Given the description of an element on the screen output the (x, y) to click on. 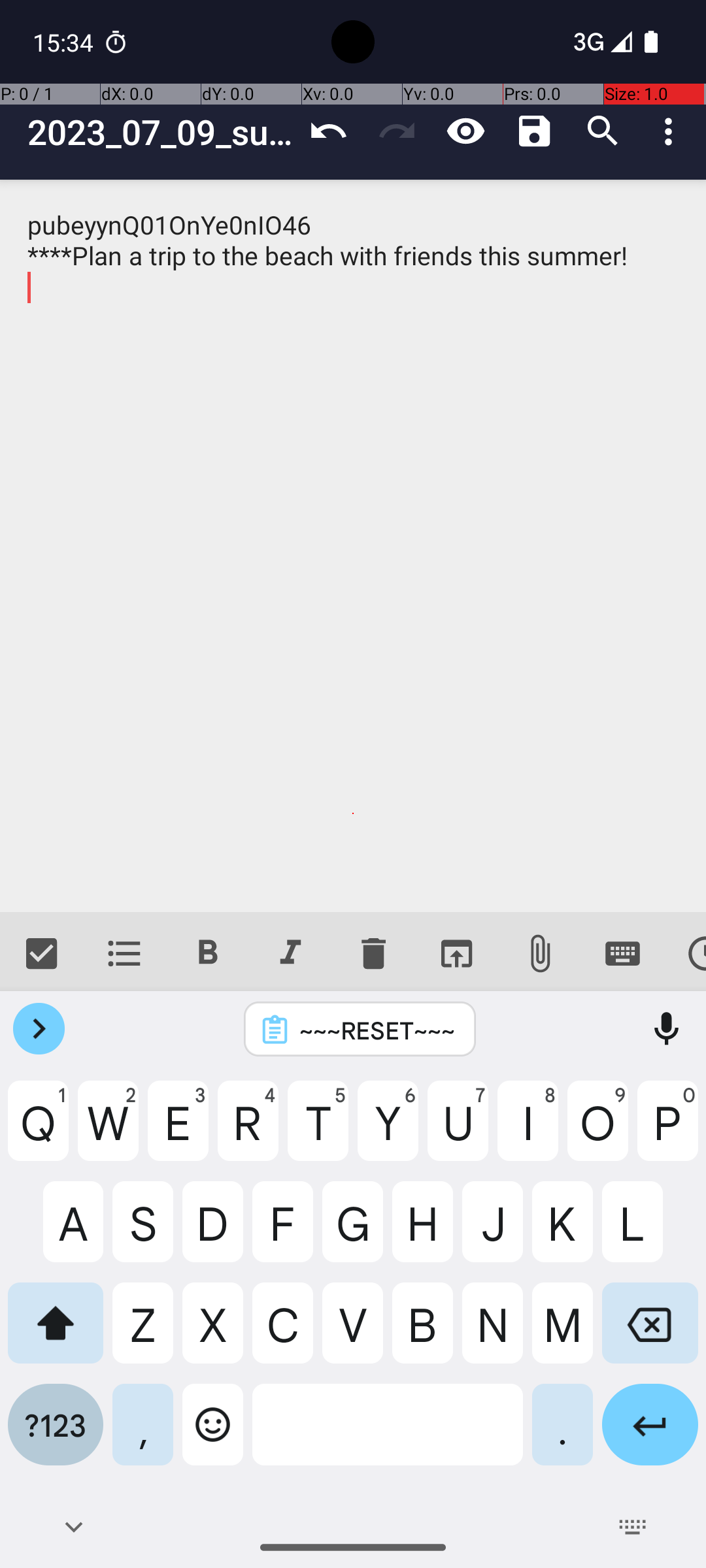
2023_07_09_summer_vacation_plans Element type: android.widget.TextView (160, 131)
pubeyynQ01OnYe0nIO46
****Plan a trip to the beach with friends this summer!
 Element type: android.widget.EditText (353, 545)
